Given the description of an element on the screen output the (x, y) to click on. 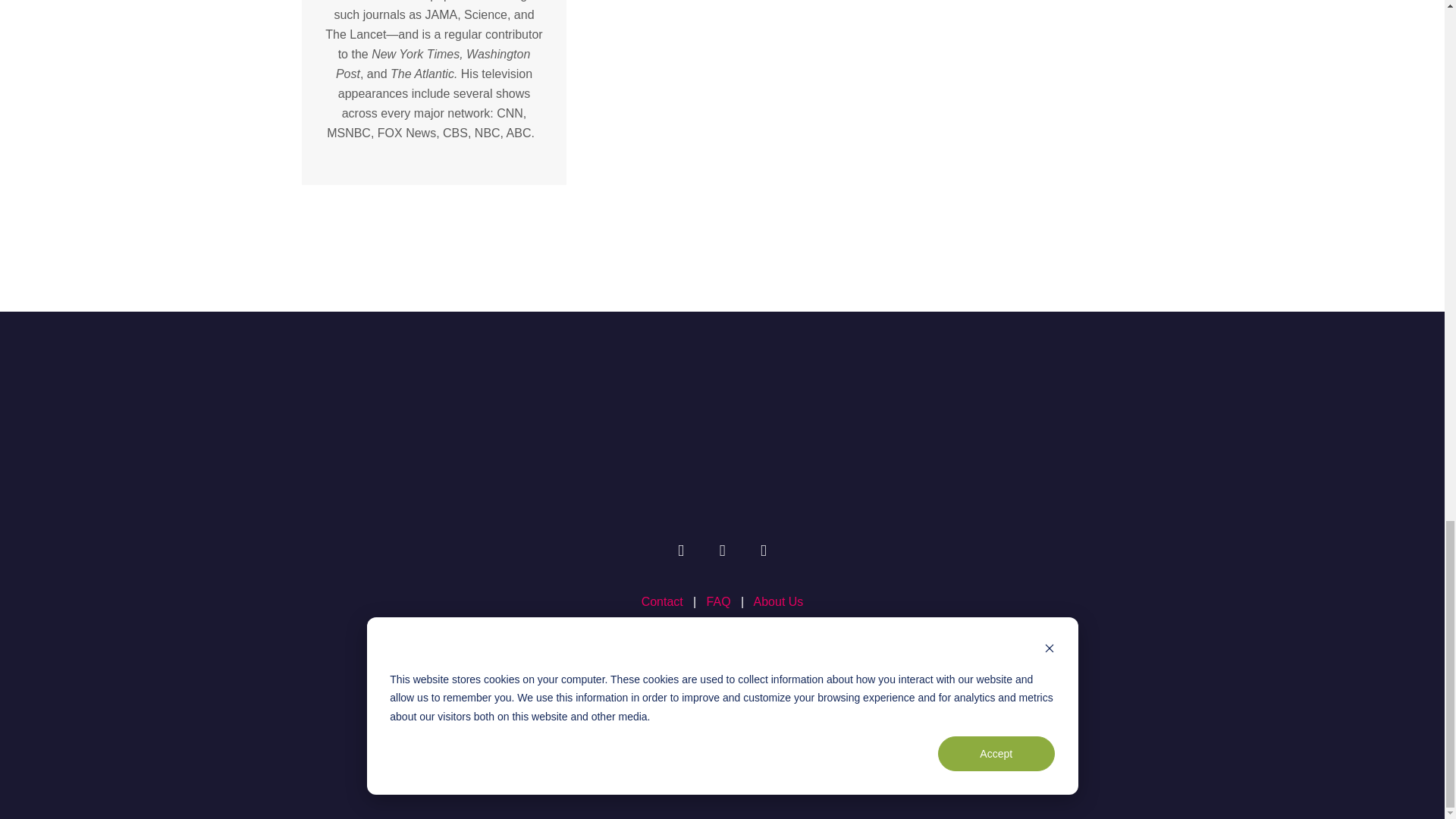
About Us (778, 601)
FAQ    (723, 601)
Contact (662, 601)
